Given the description of an element on the screen output the (x, y) to click on. 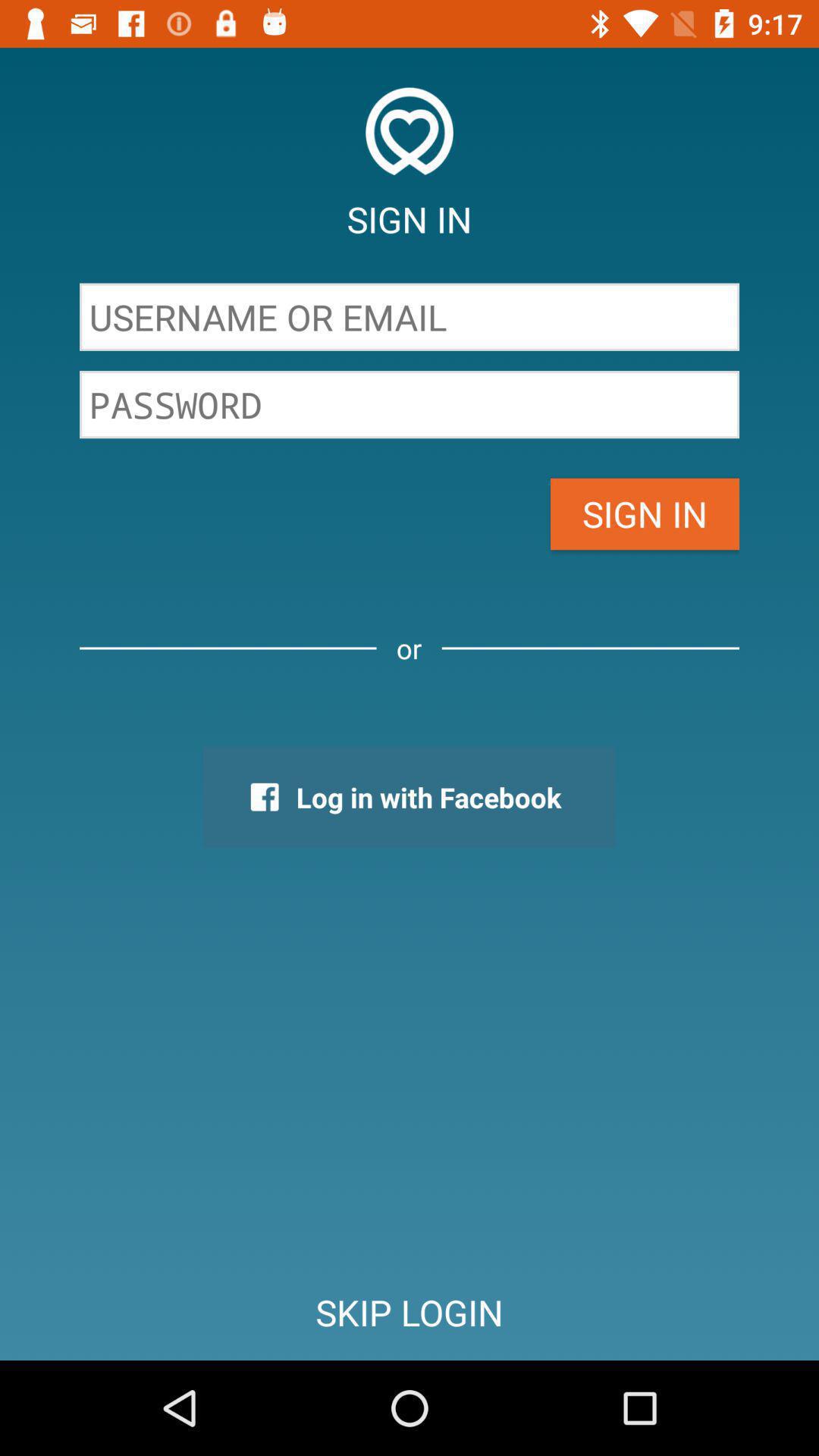
username or email blank bar (409, 316)
